Given the description of an element on the screen output the (x, y) to click on. 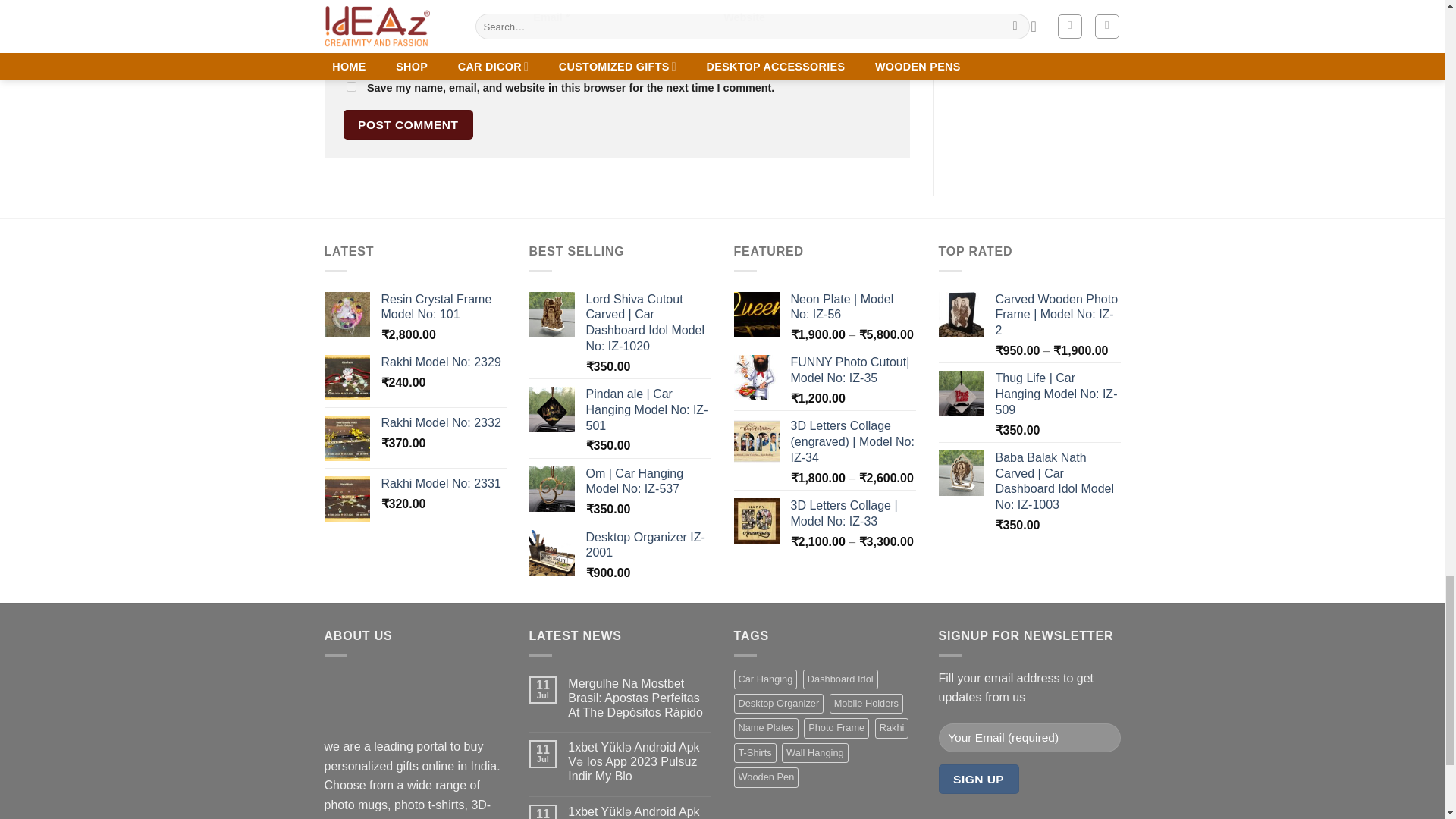
yes (350, 86)
Post Comment (407, 124)
Sign Up (979, 778)
